Given the description of an element on the screen output the (x, y) to click on. 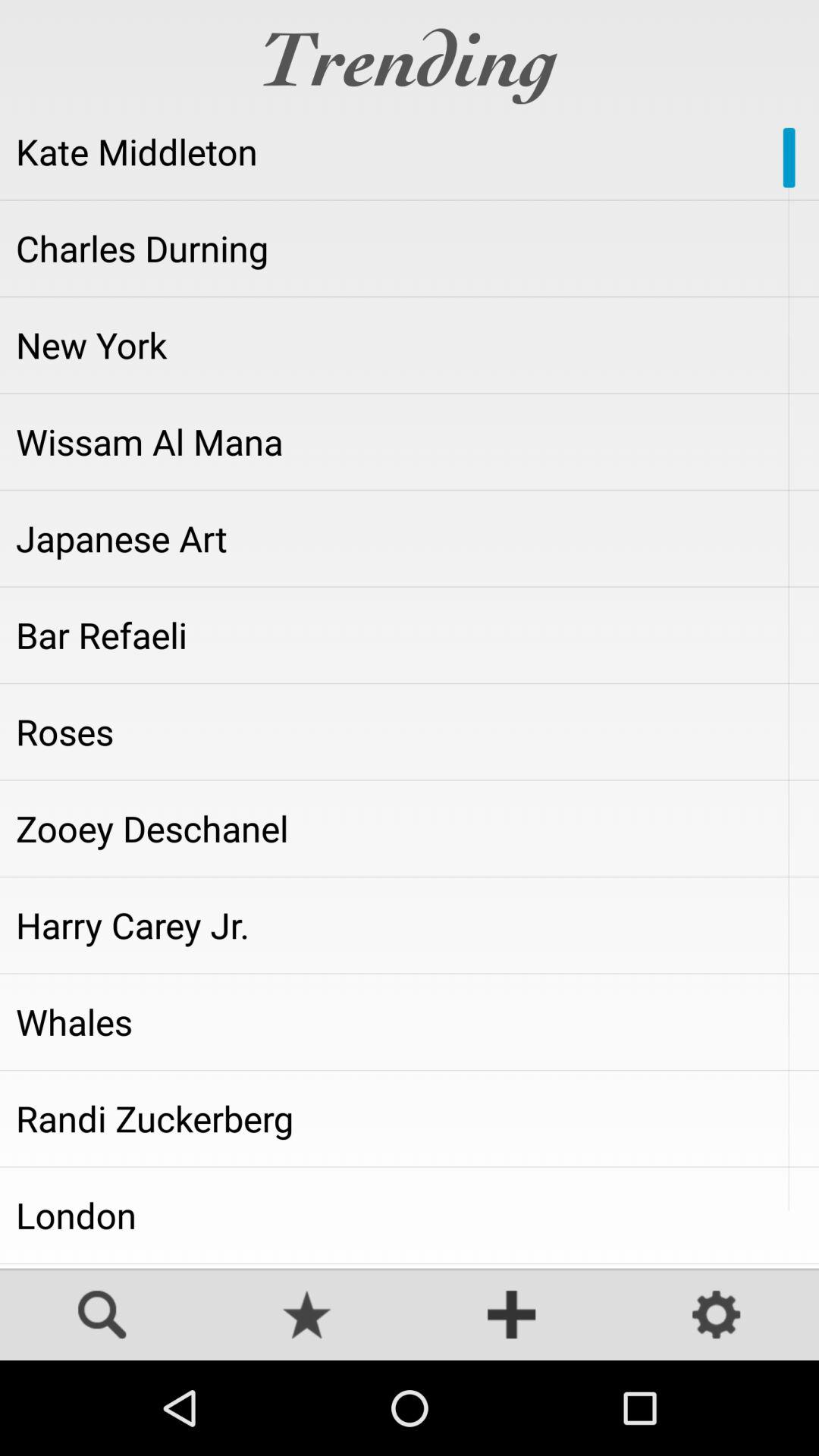
turn on item above the whales icon (409, 925)
